Given the description of an element on the screen output the (x, y) to click on. 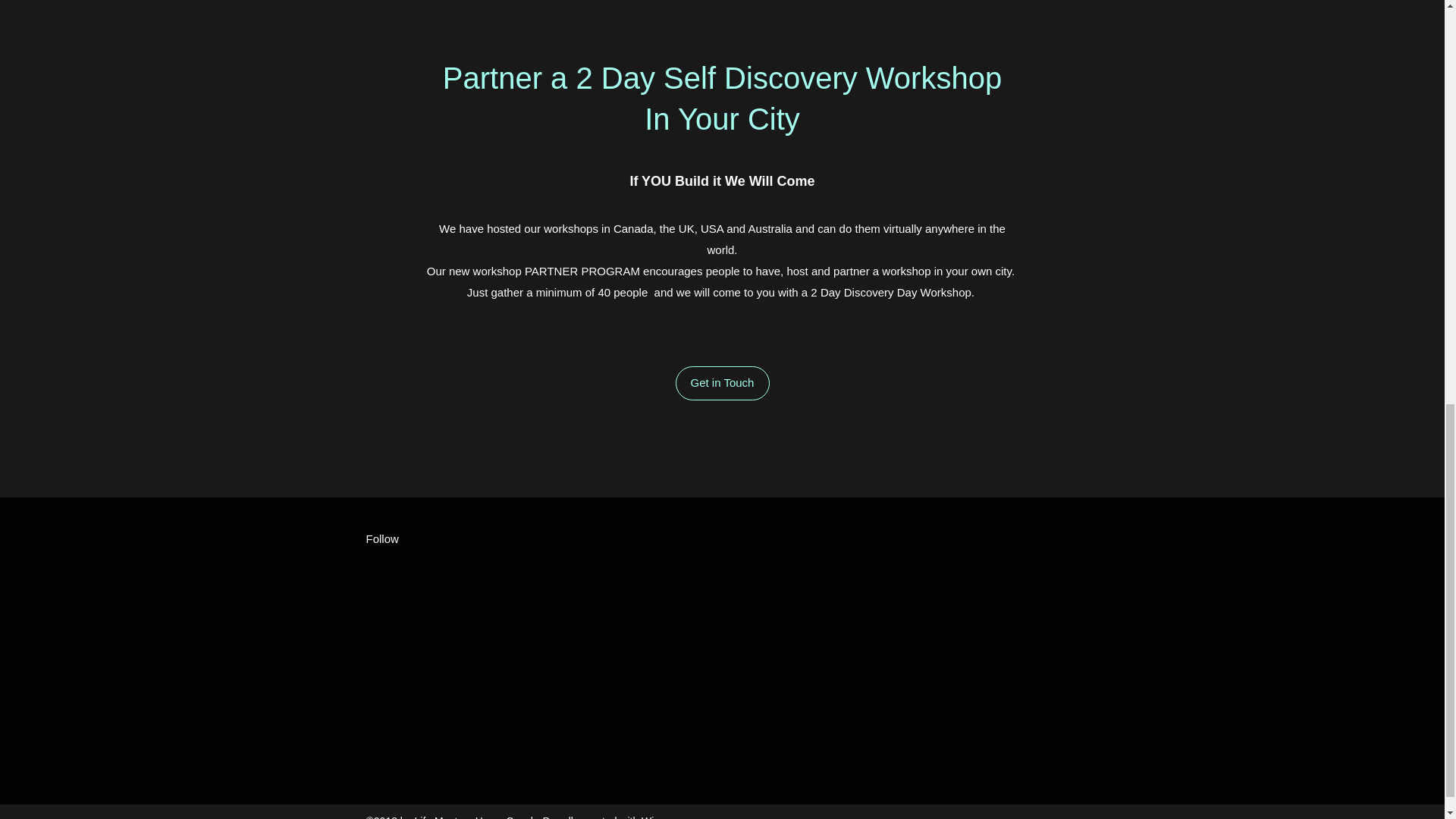
Get in Touch (721, 383)
